Given the description of an element on the screen output the (x, y) to click on. 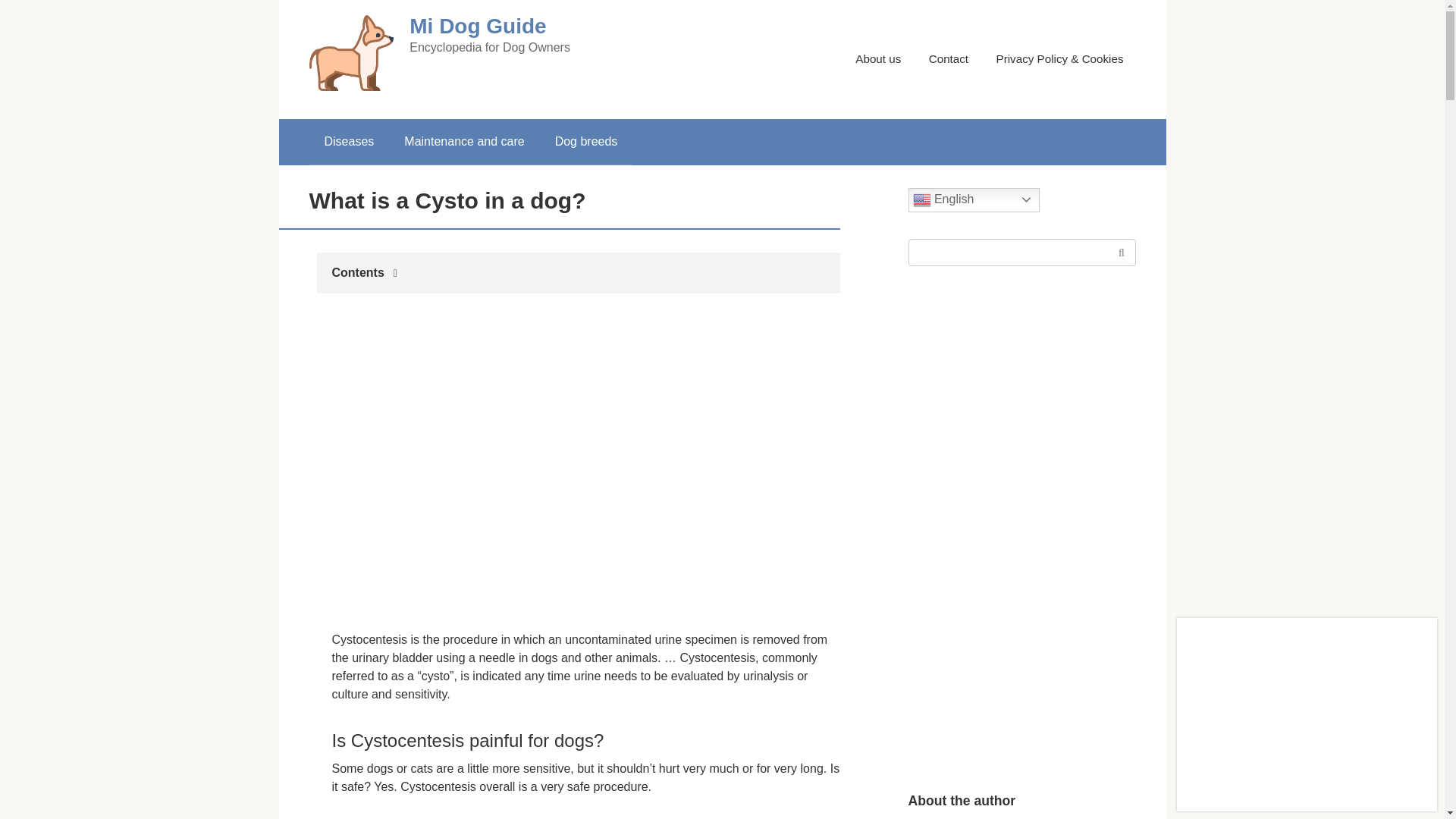
Mi Dog Guide (477, 25)
Advertisement (723, 467)
Contact (948, 59)
About us (878, 59)
Advertisement (471, 467)
Diseases (349, 141)
Dog breeds (586, 141)
Maintenance and care (463, 141)
